Given the description of an element on the screen output the (x, y) to click on. 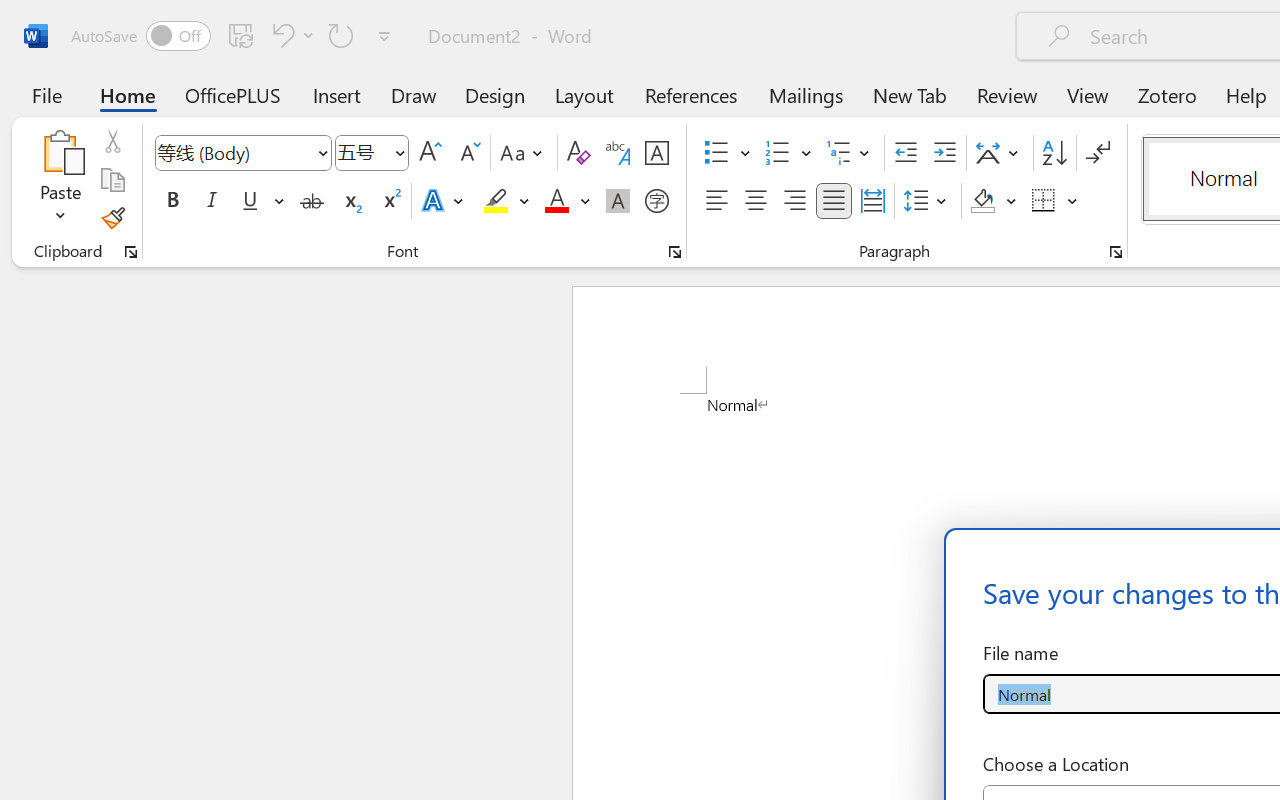
Draw (413, 94)
Repeat Doc Close (341, 35)
Save (241, 35)
More Options (1073, 201)
Center (756, 201)
Numbering (788, 153)
Insert (337, 94)
Font Color Red (556, 201)
Character Shading (618, 201)
Layout (584, 94)
Bullets (727, 153)
Borders (1055, 201)
Font Size (372, 153)
Align Left (716, 201)
Shrink Font (468, 153)
